Given the description of an element on the screen output the (x, y) to click on. 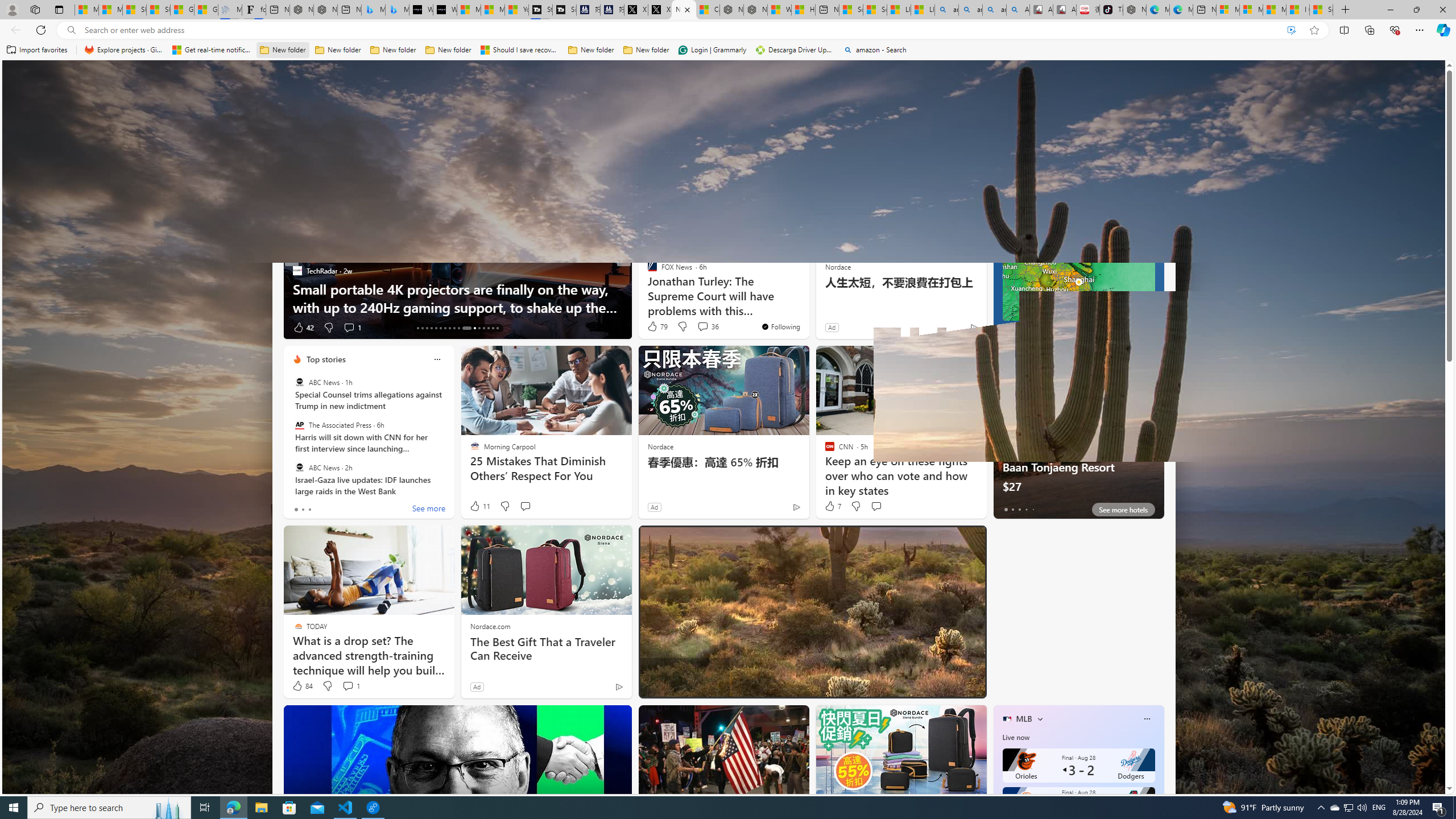
View comments 312 Comment (6, 327)
You're following The Weather Channel (949, 329)
View comments 103 Comment (6, 327)
AutomationID: tab-14 (422, 328)
4 Like (651, 327)
Restore (1416, 9)
Dislike (685, 685)
Microsoft 365 (675, 126)
AutomationID: tab-40 (497, 328)
Discover (306, 151)
Close tab (686, 9)
Collections (1369, 29)
Wikipedia (578, 126)
Play (465, 151)
